Given the description of an element on the screen output the (x, y) to click on. 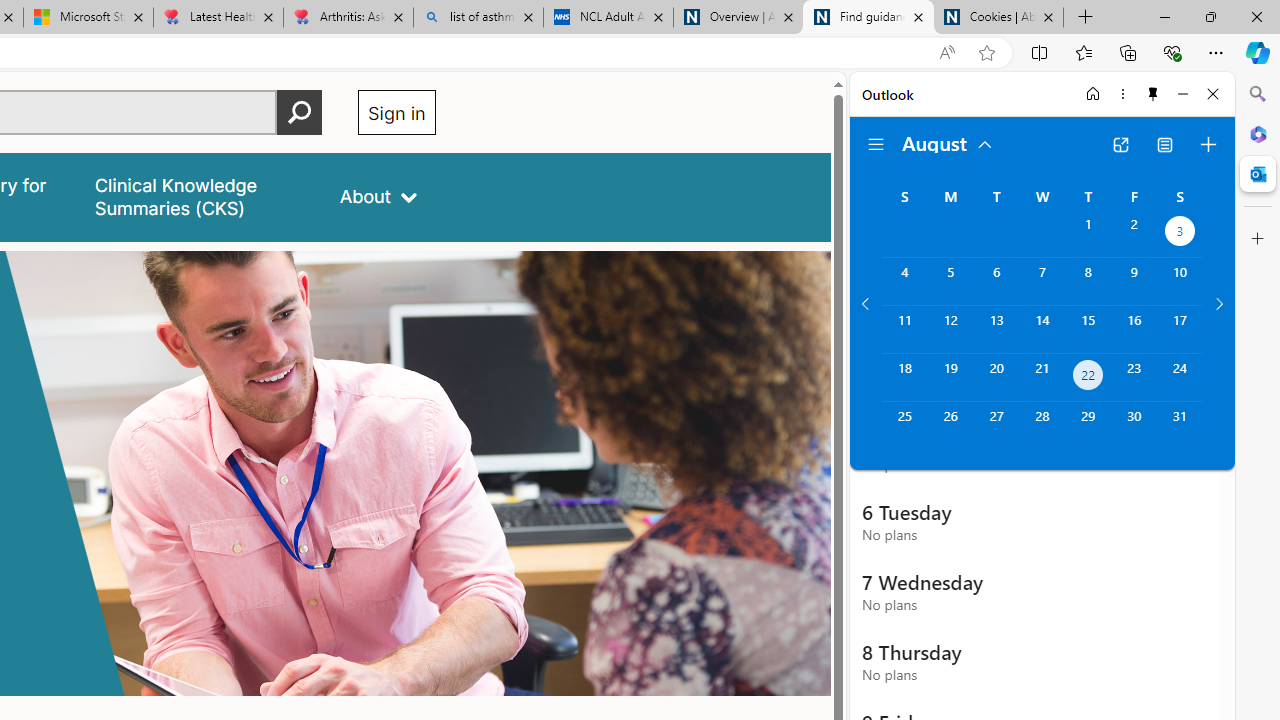
Saturday, August 24, 2024.  (1180, 377)
Find guidance | NICE (868, 17)
Tuesday, August 20, 2024.  (996, 377)
Thursday, August 29, 2024.  (1088, 425)
Sunday, August 18, 2024.  (904, 377)
August (948, 141)
Sunday, August 25, 2024.  (904, 425)
Open in new tab (1120, 144)
